Given the description of an element on the screen output the (x, y) to click on. 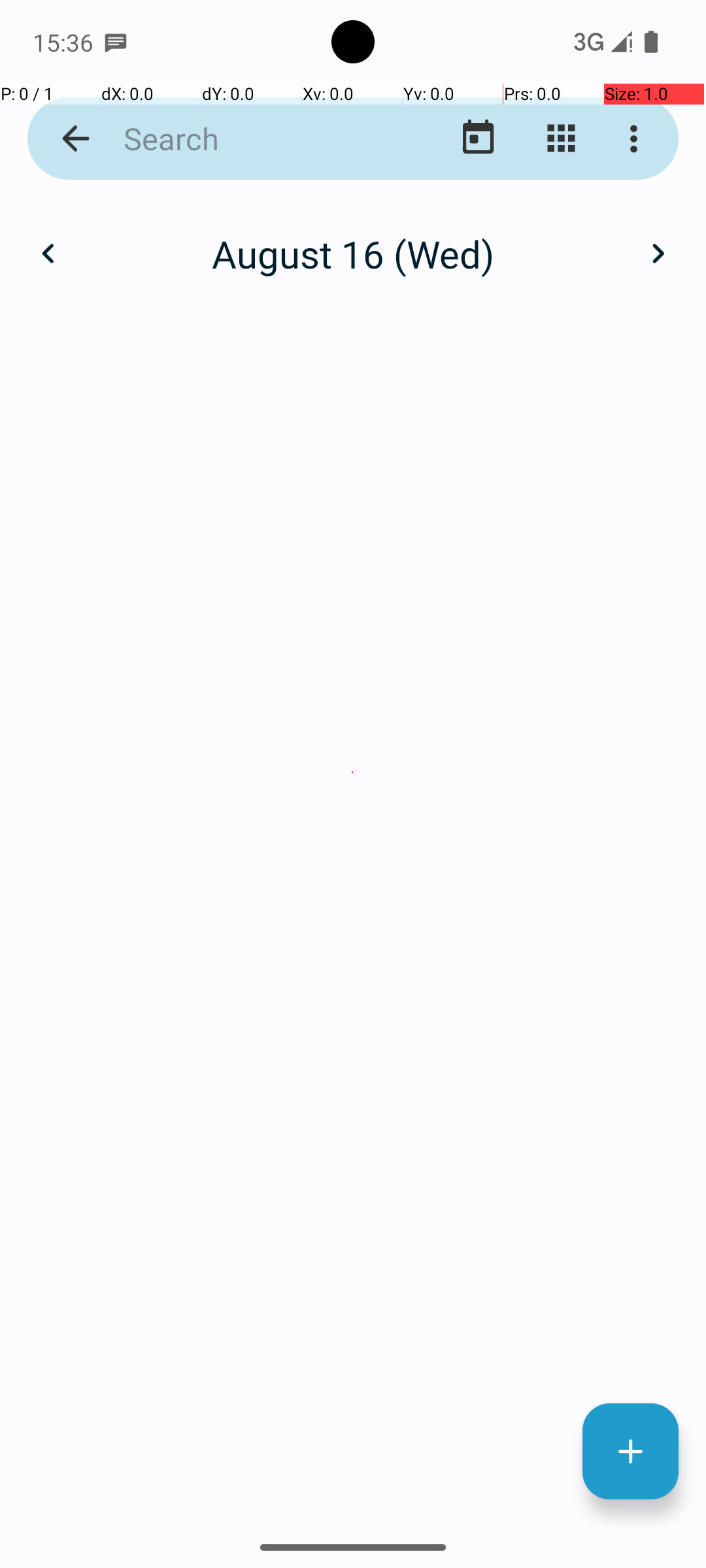
JANUARY Element type: android.widget.TextView (123, 319)
FEBRUARY Element type: android.widget.TextView (352, 319)
MARCH Element type: android.widget.TextView (582, 319)
APRIL Element type: android.widget.TextView (123, 621)
MAY Element type: android.widget.TextView (352, 621)
JUNE Element type: android.widget.TextView (582, 621)
JULY Element type: android.widget.TextView (123, 923)
AUGUST Element type: android.widget.TextView (352, 923)
SEPTEMBER Element type: android.widget.TextView (582, 923)
OCTOBER Element type: android.widget.TextView (123, 1224)
NOVEMBER Element type: android.widget.TextView (352, 1224)
DECEMBER Element type: android.widget.TextView (582, 1224)
August Element type: android.widget.TextView (352, 239)
August 16 (Wed) Element type: android.widget.TextView (352, 253)
15:36 Element type: android.widget.TextView (64, 41)
